Given the description of an element on the screen output the (x, y) to click on. 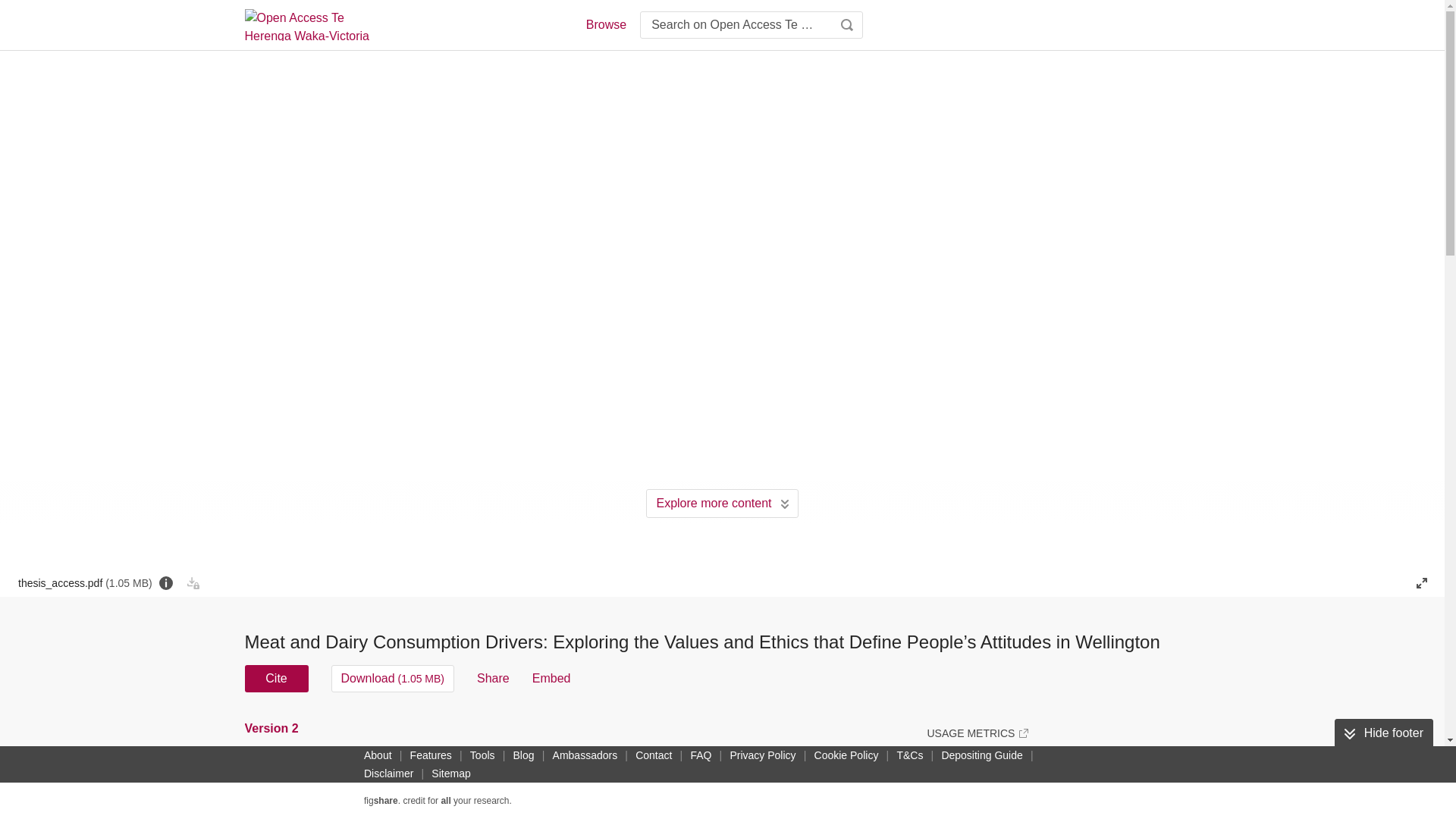
Browse (605, 24)
Explore more content (721, 502)
Version 2 (273, 728)
Share (493, 678)
Embed (551, 678)
Cite (275, 678)
USAGE METRICS (976, 732)
